Given the description of an element on the screen output the (x, y) to click on. 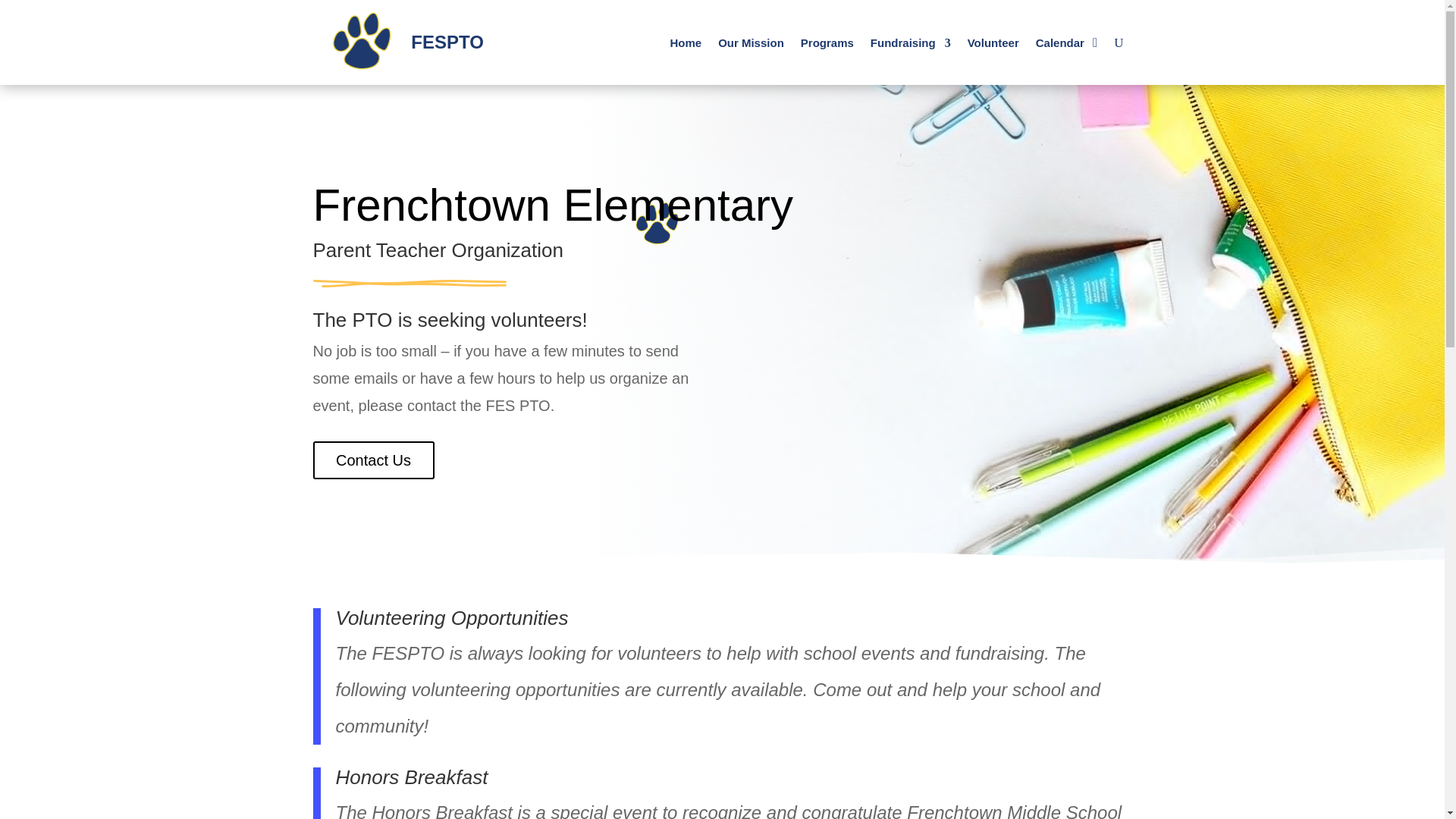
Contact Us (373, 460)
The PTO is seeking volunteers! (449, 319)
Home (685, 45)
online-classroom-02 (409, 283)
FTSD Logo Paw (361, 40)
Programs (826, 45)
Fundraising (910, 45)
Calendar (1059, 45)
Our Mission (750, 45)
Volunteer (993, 45)
